Given the description of an element on the screen output the (x, y) to click on. 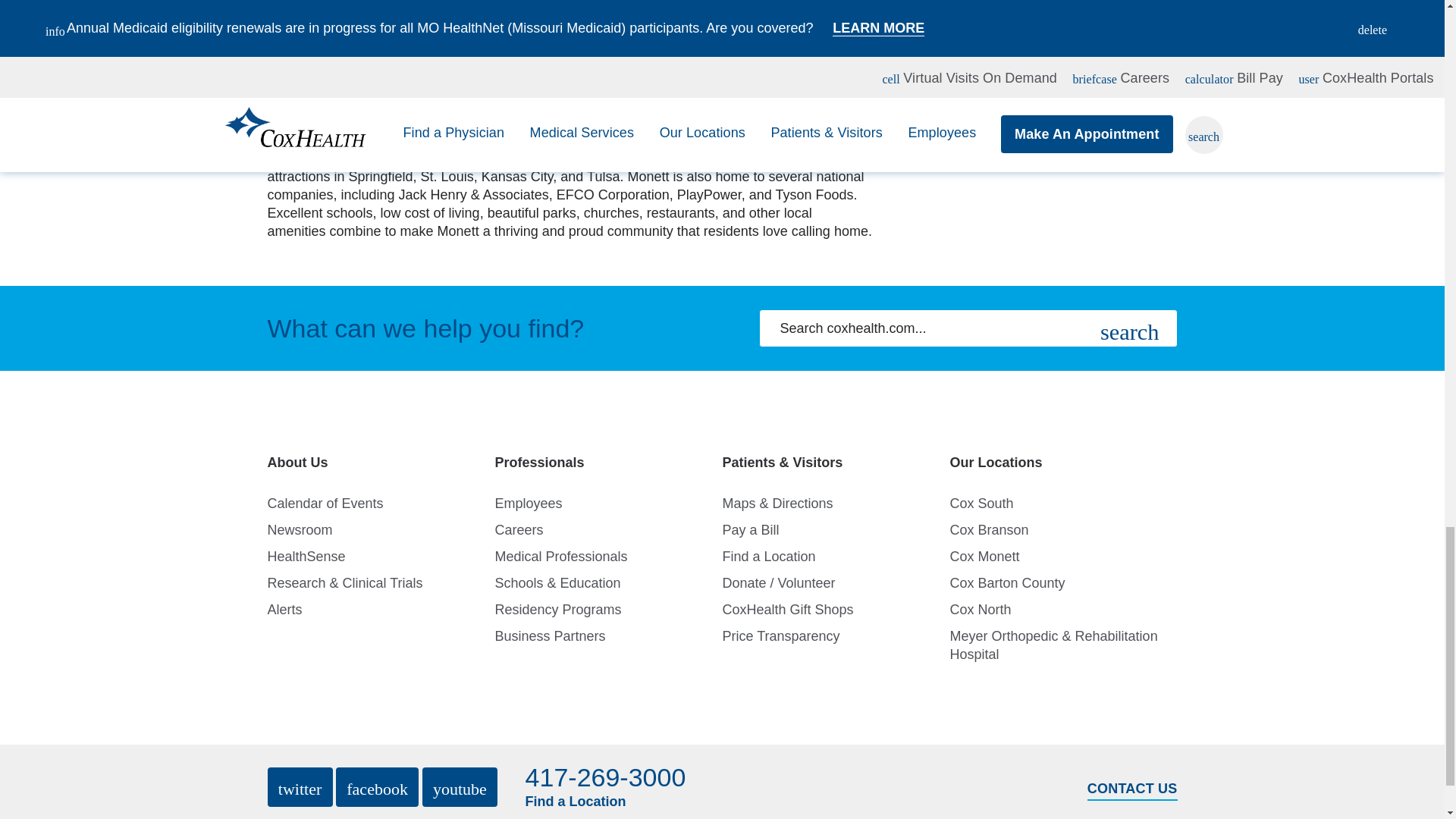
Facebook (377, 786)
Youtube (459, 786)
Twitter (298, 786)
